Given the description of an element on the screen output the (x, y) to click on. 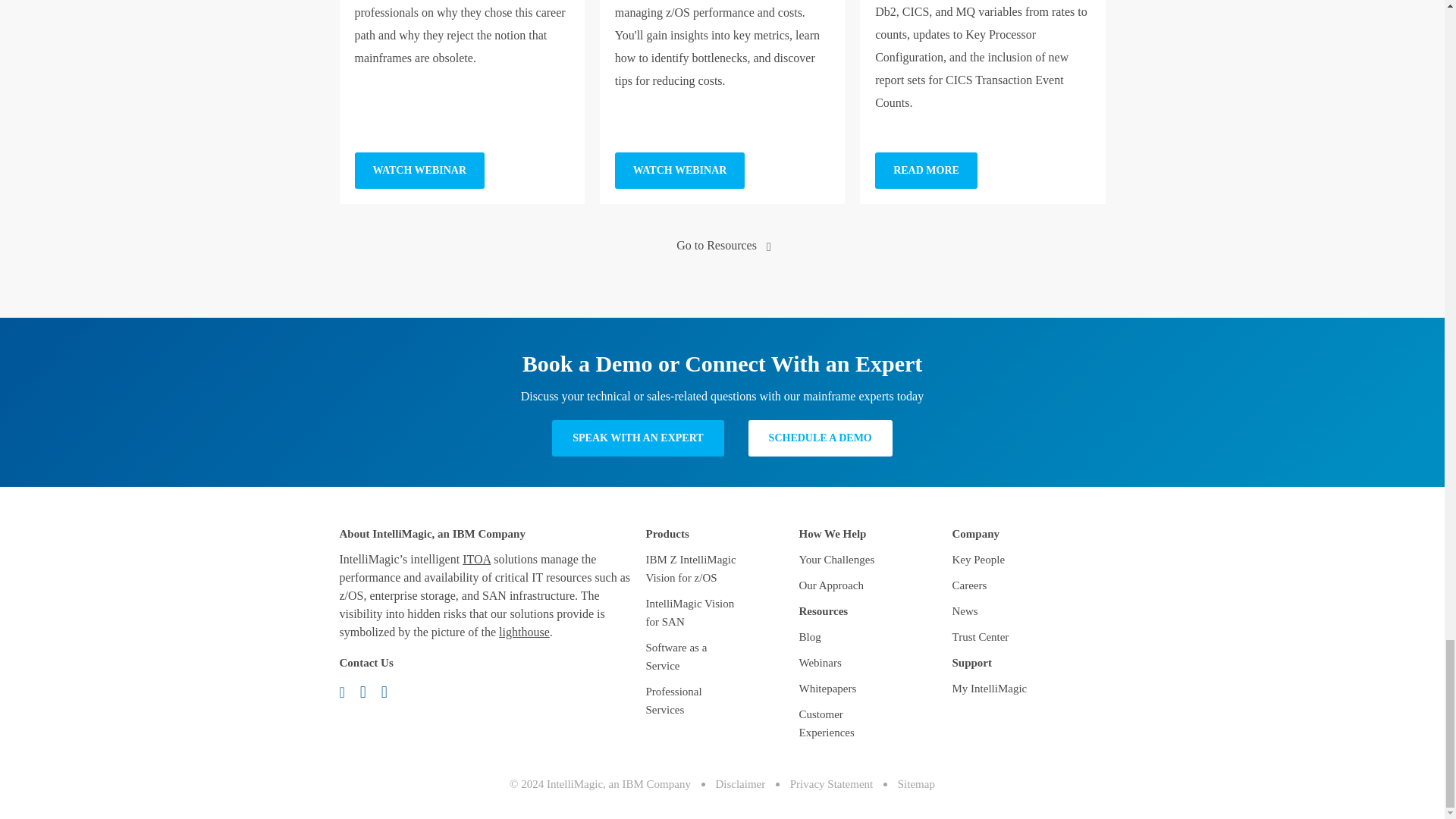
Schedule a Demo (820, 438)
call (368, 690)
Speak with an Expert (637, 438)
email (347, 690)
